Given the description of an element on the screen output the (x, y) to click on. 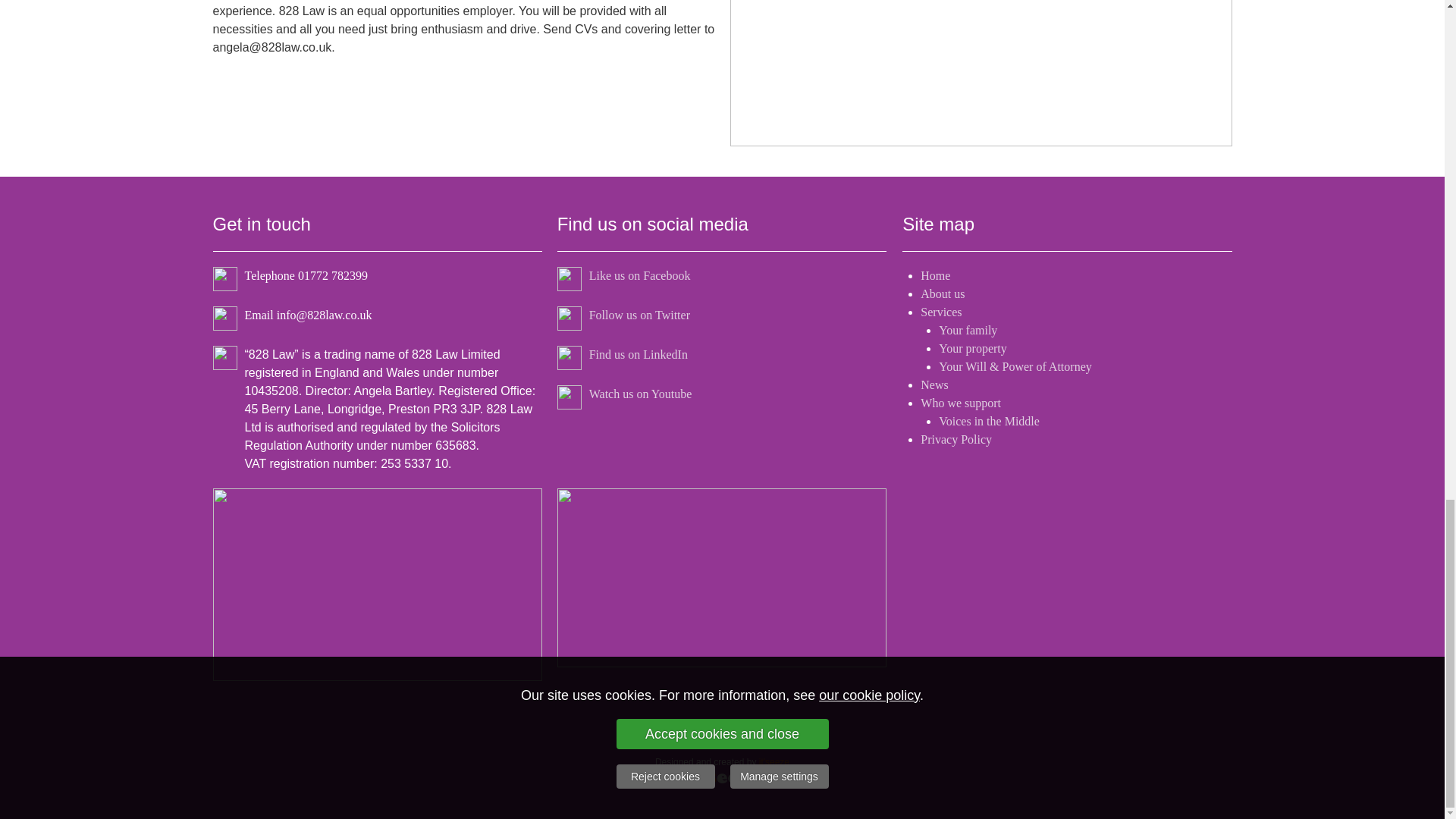
Like us on Facebook (639, 275)
Follow us on Twitter (639, 314)
it'seeze (773, 760)
Watch us on Youtube (641, 393)
Who we support (960, 402)
News (933, 384)
Privacy Policy (955, 439)
About us (941, 293)
Home (935, 275)
Your family (968, 329)
